Given the description of an element on the screen output the (x, y) to click on. 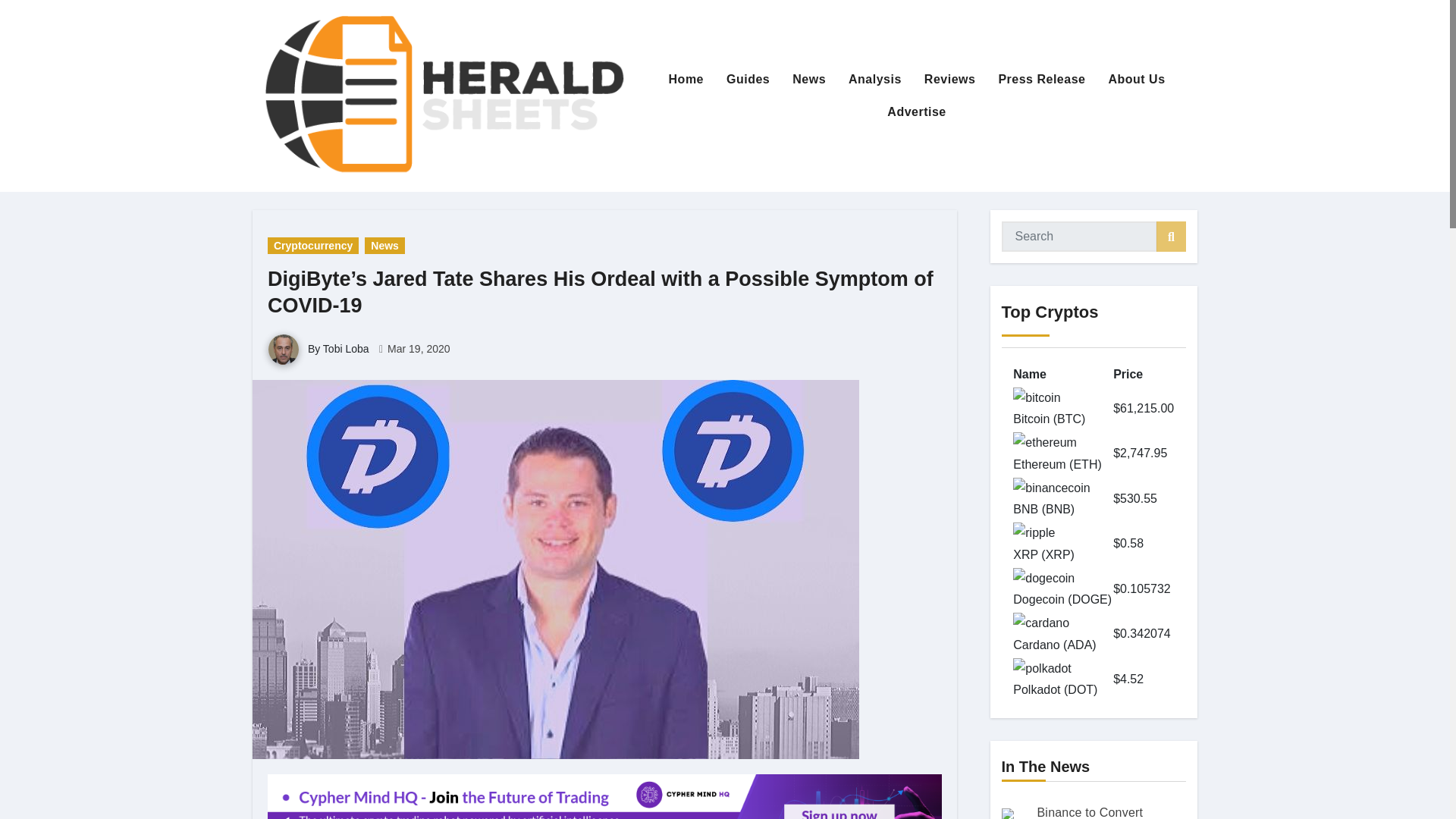
Reviews (949, 79)
News (808, 79)
Analysis (874, 79)
Analysis (874, 79)
Press Release (1041, 79)
Guides (747, 79)
Home (686, 79)
Guides (747, 79)
Home (686, 79)
About Us (1136, 79)
